Given the description of an element on the screen output the (x, y) to click on. 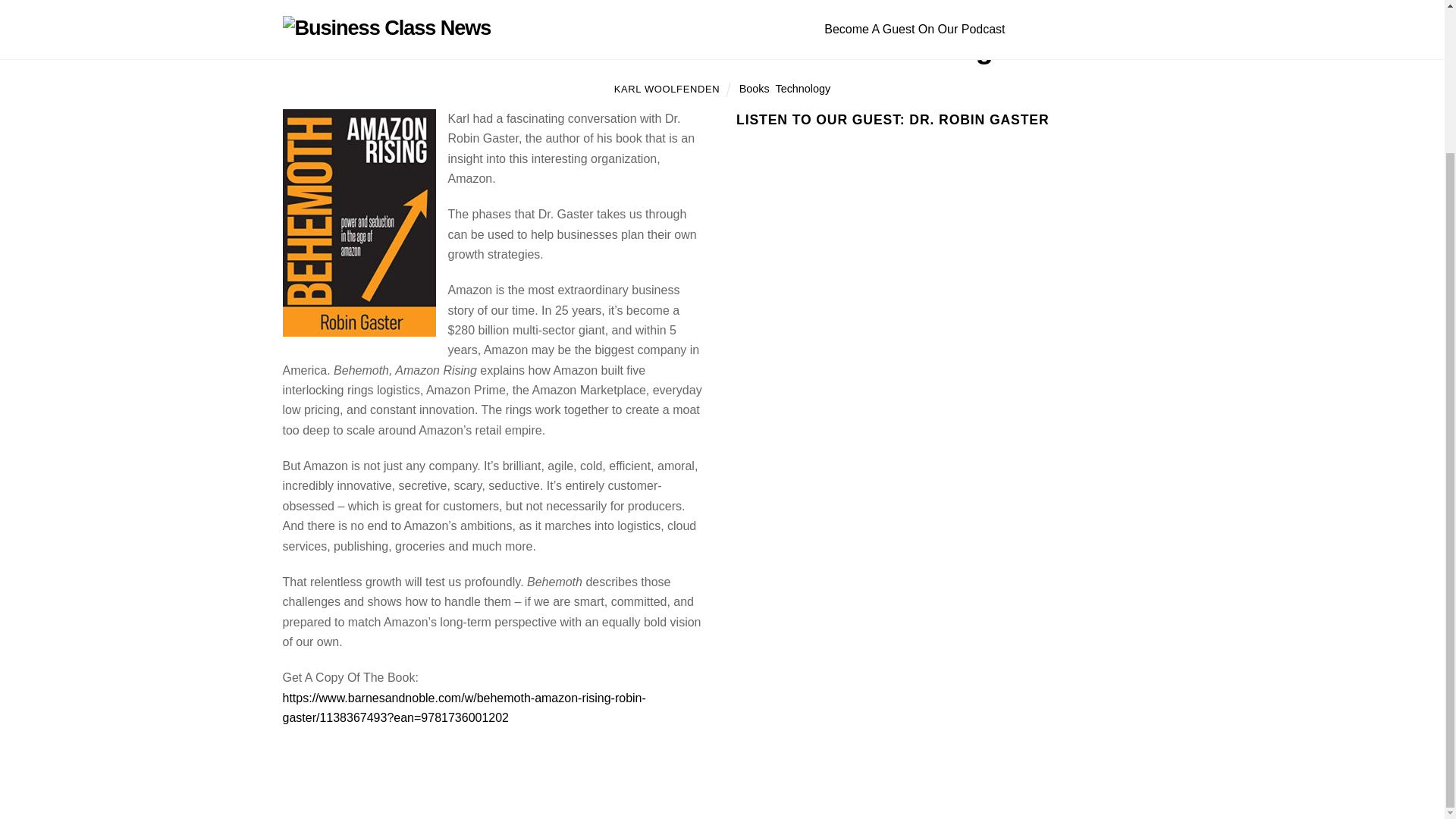
Technology (801, 88)
Books (754, 88)
KARL WOOLFENDEN (667, 89)
